Given the description of an element on the screen output the (x, y) to click on. 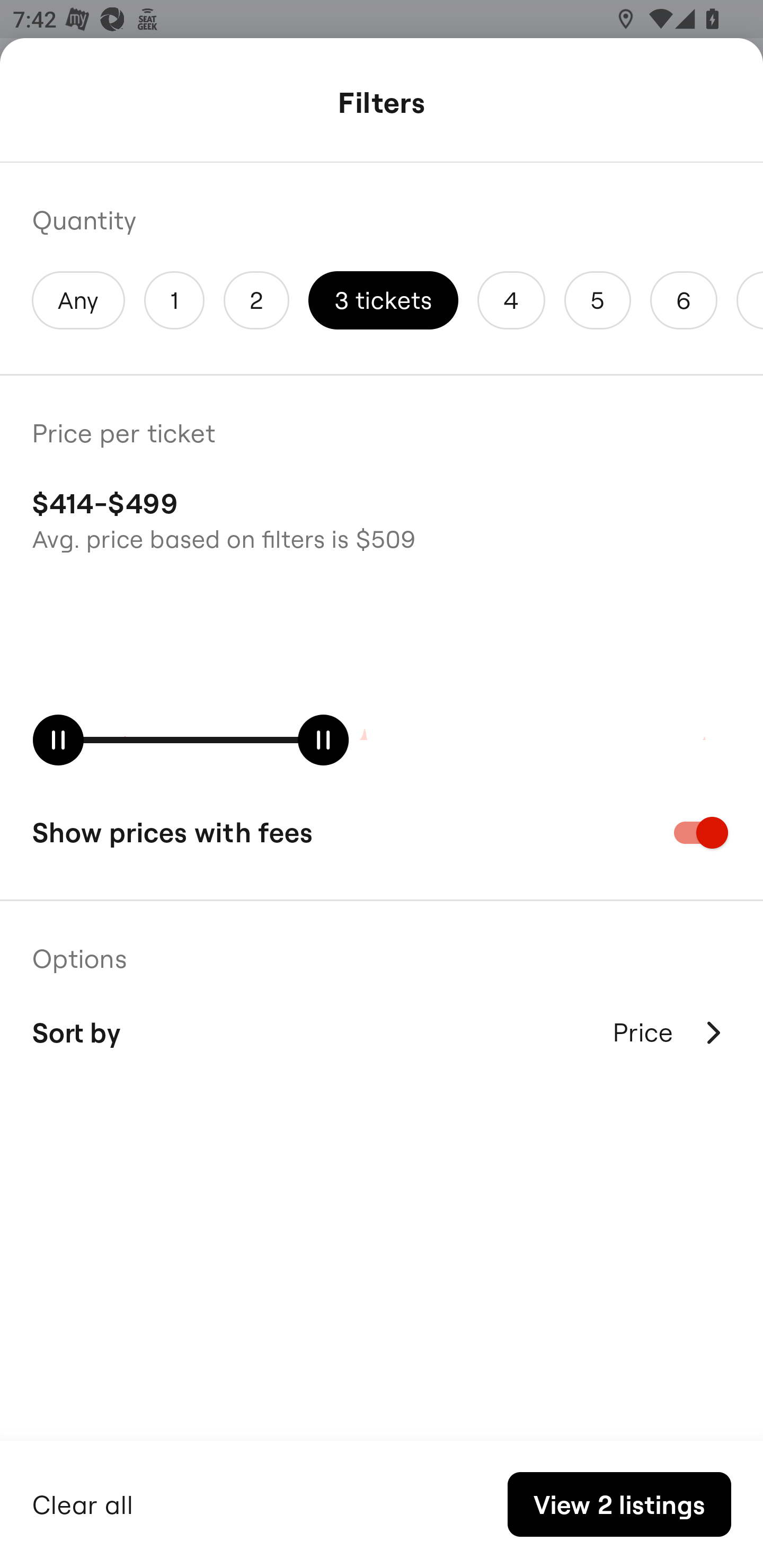
Any (78, 300)
1 (173, 300)
2 (256, 300)
3 tickets (383, 300)
4 (511, 300)
5 (597, 300)
6 (684, 300)
$414-$499 Avg. price based on filters is $509 (381, 518)
Show prices with fees (381, 832)
Sort by Price (381, 1032)
Clear all (83, 1502)
View 2 listings (618, 1504)
